Given the description of an element on the screen output the (x, y) to click on. 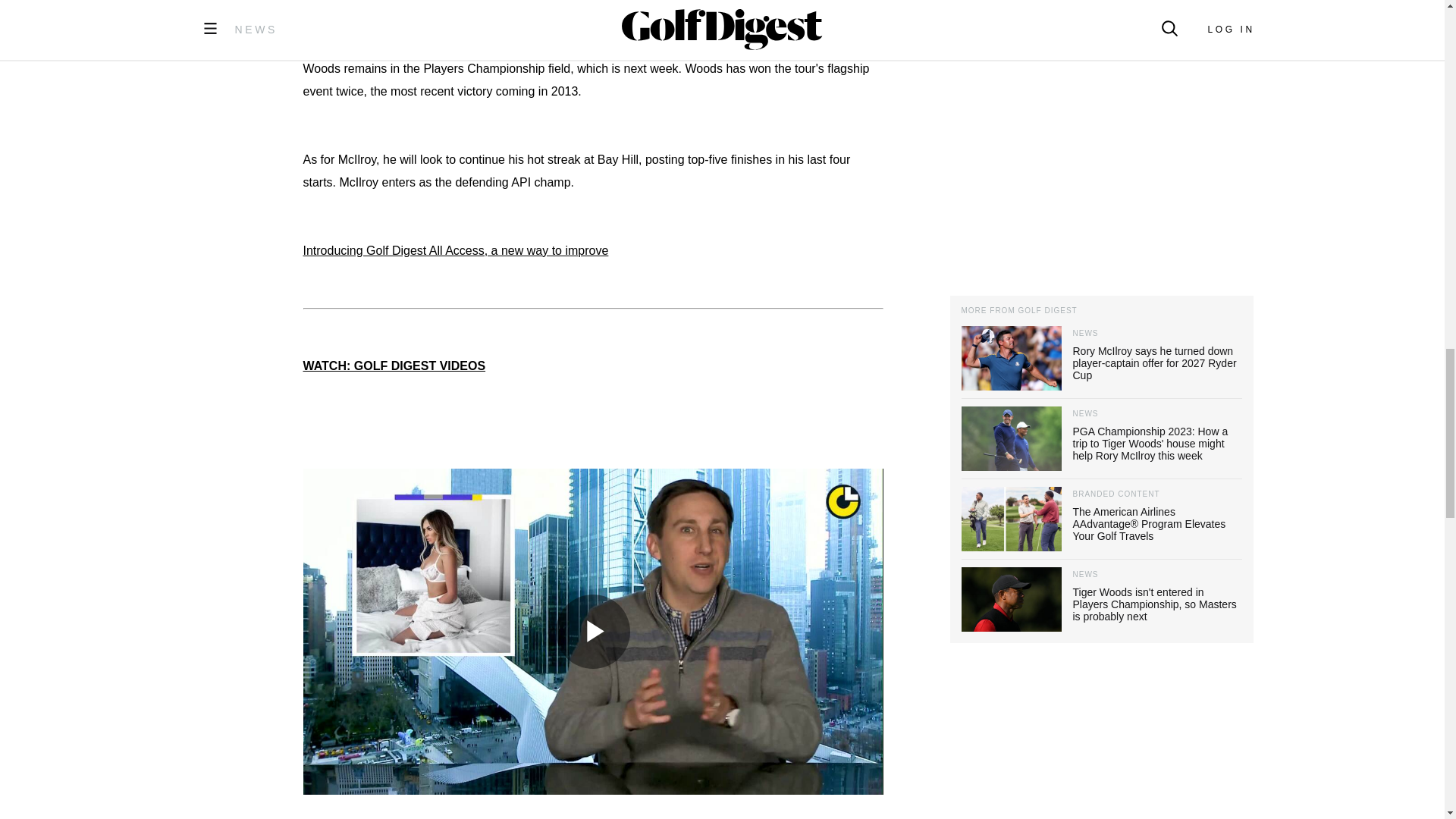
Play Video (593, 631)
